Given the description of an element on the screen output the (x, y) to click on. 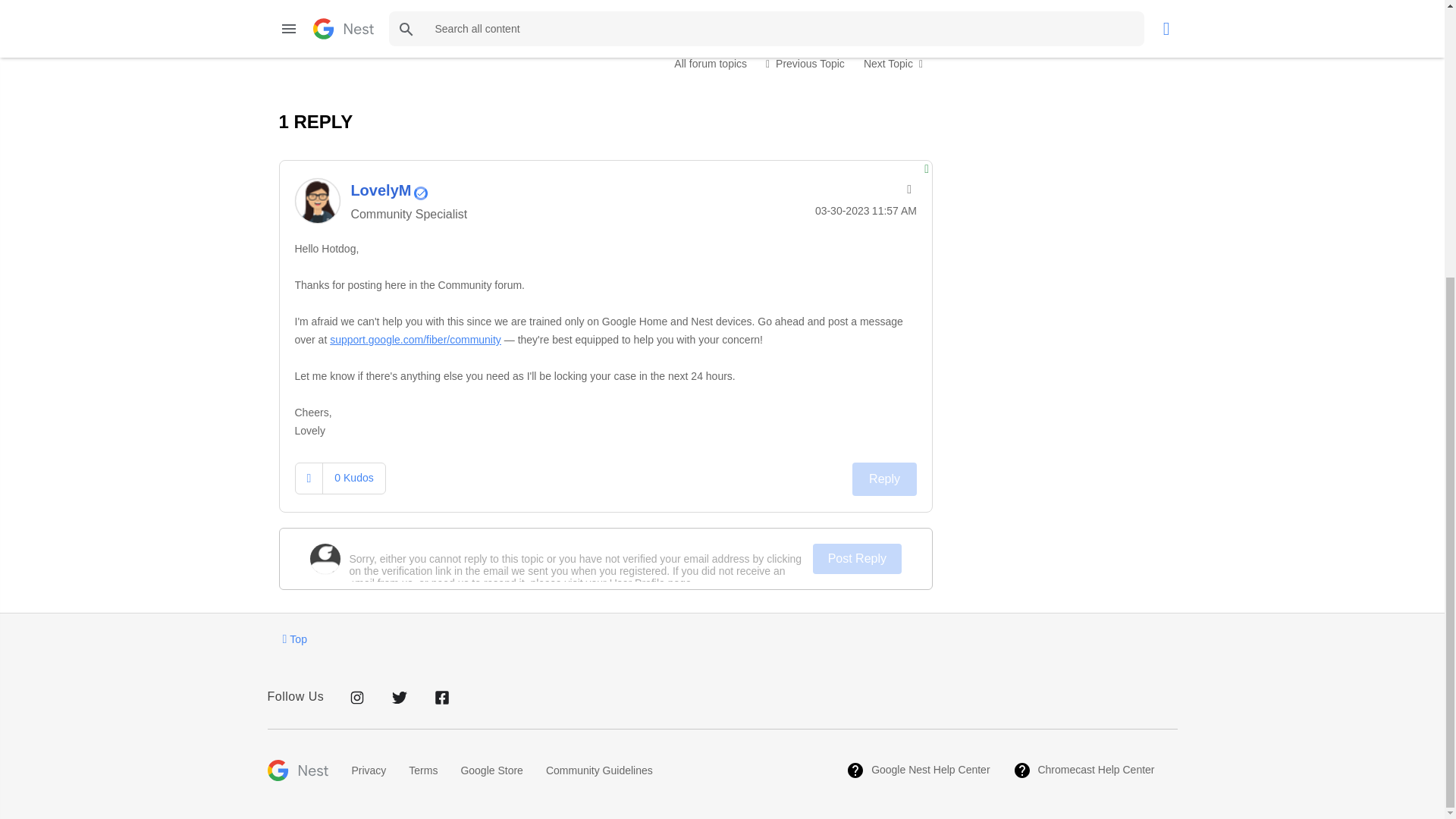
LovelyM (316, 200)
Top (293, 638)
Community Specialist (420, 192)
Click here to give kudos to this post. (309, 5)
Schedules on Family WiFi keep disabling (804, 63)
The total number of kudos this post has received. (353, 5)
Top (293, 638)
